Given the description of an element on the screen output the (x, y) to click on. 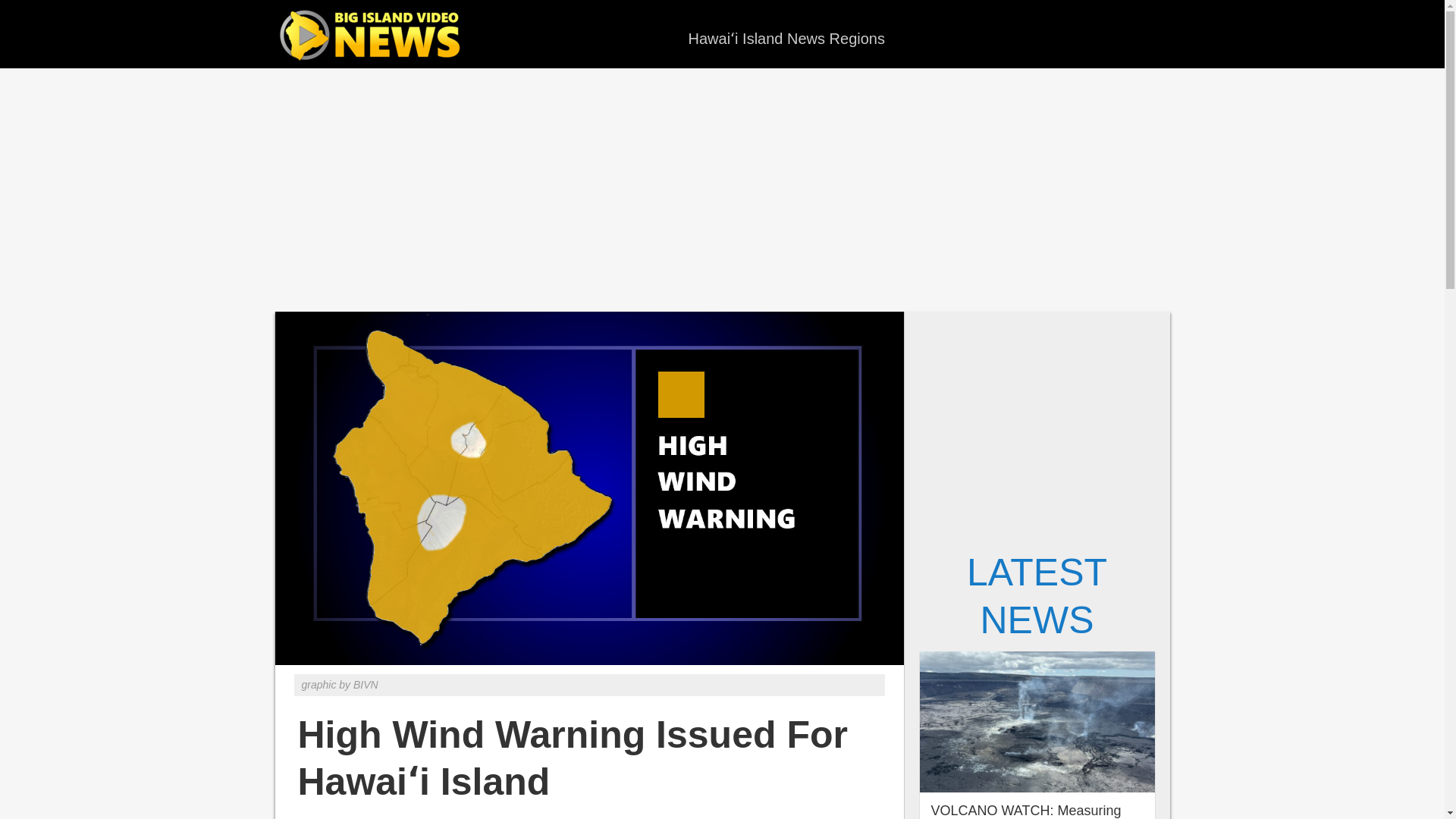
Advertisement (1037, 425)
Big Island Video News (373, 35)
Advertisement (721, 190)
